Given the description of an element on the screen output the (x, y) to click on. 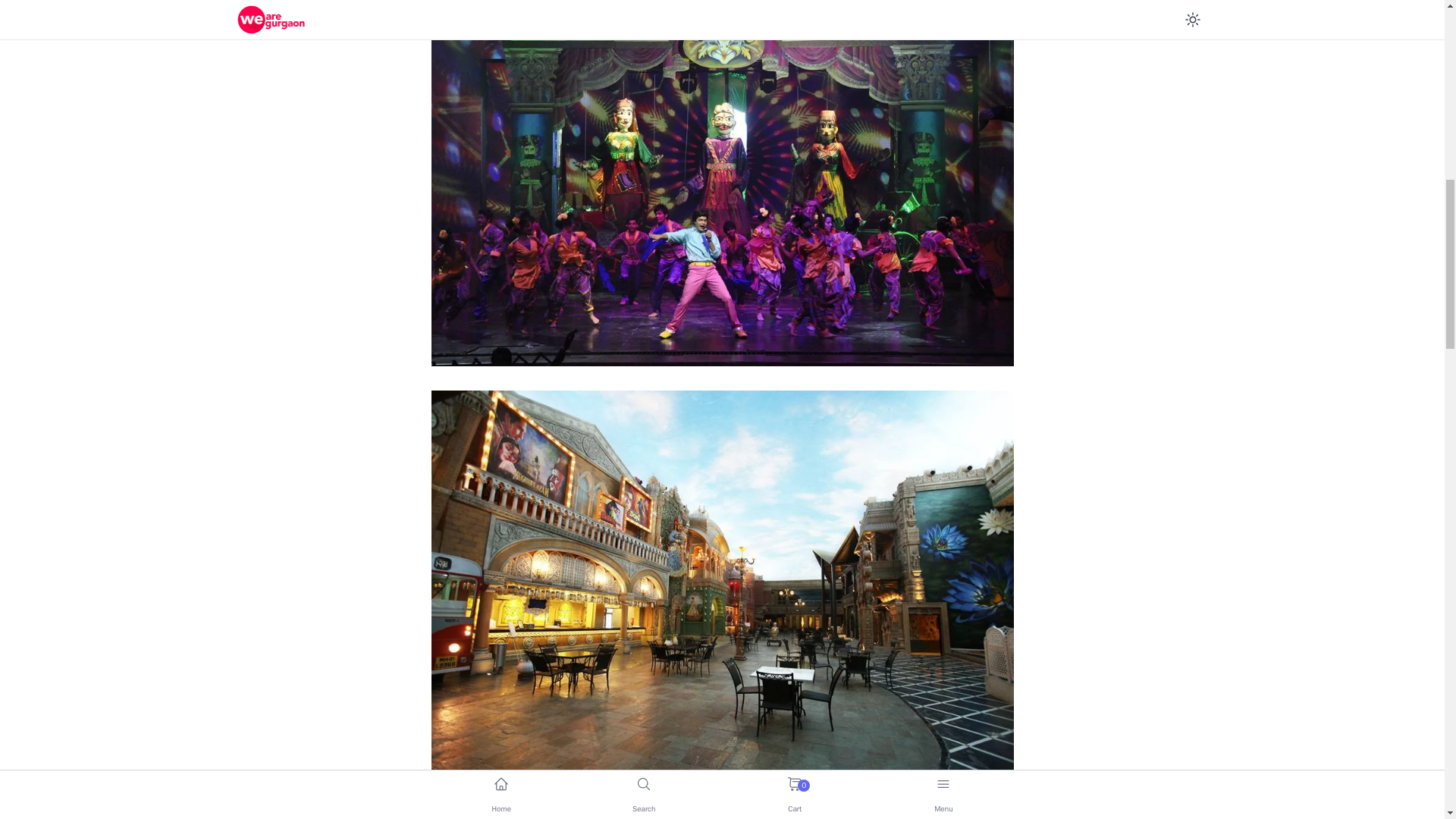
kingdom dreams gurgaon (721, 811)
